Given the description of an element on the screen output the (x, y) to click on. 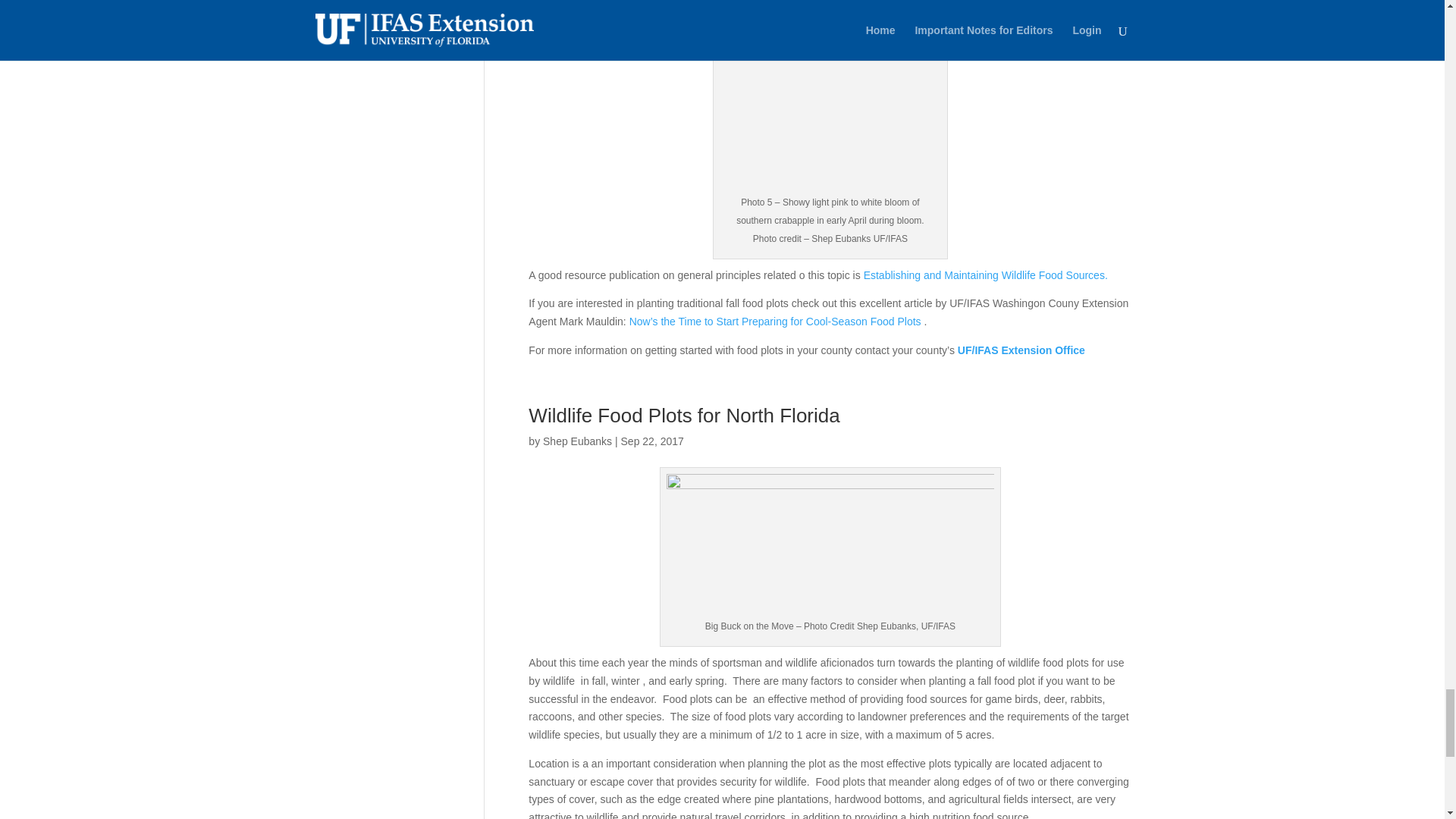
Posts by Shep Eubanks (577, 440)
